Given the description of an element on the screen output the (x, y) to click on. 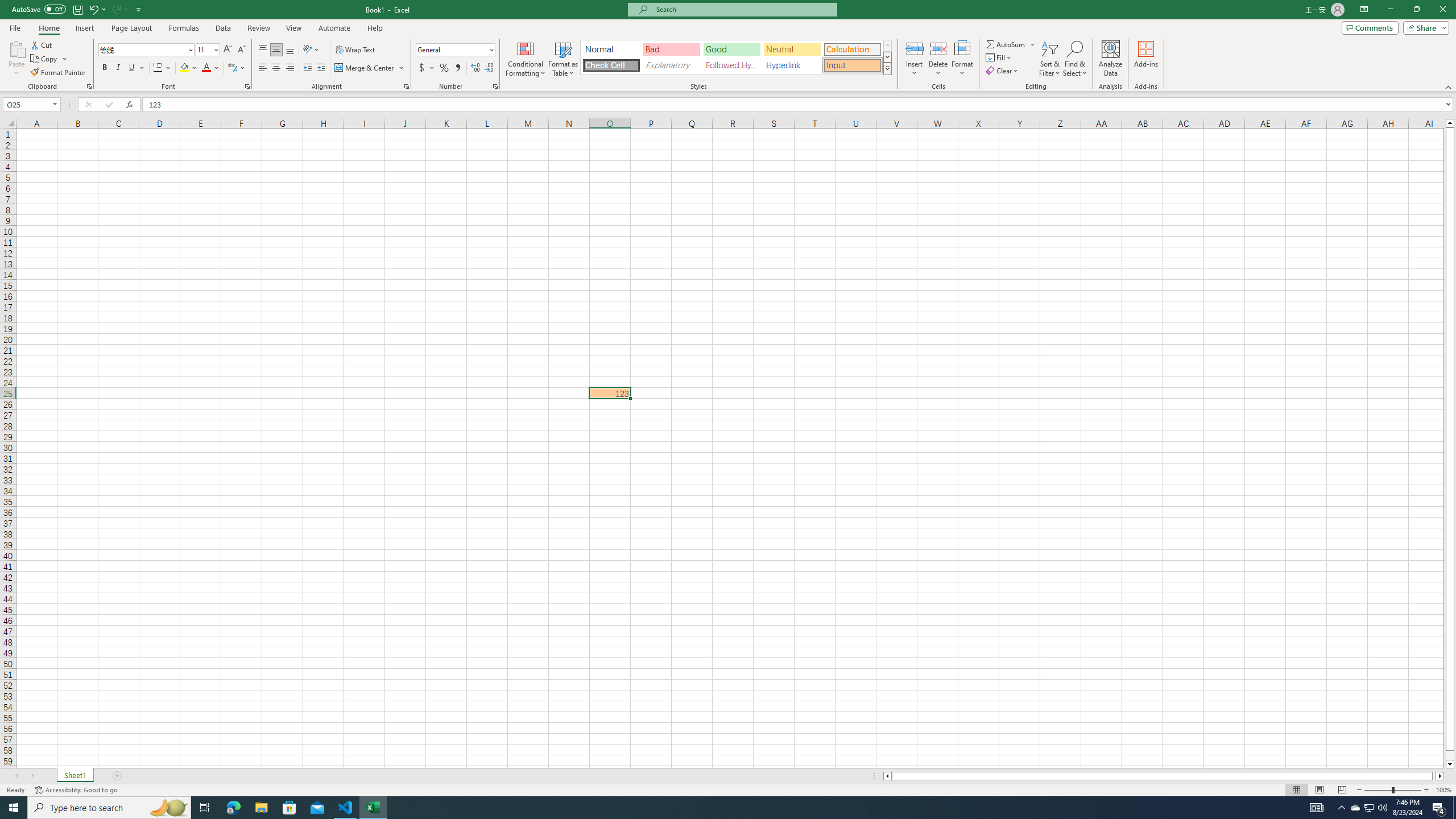
Decrease Decimal (489, 67)
Decrease Font Size (240, 49)
Bottom Align (290, 49)
Number Format (455, 49)
AutoSum (1011, 44)
Underline (136, 67)
Format Cell Alignment (405, 85)
Font Color RGB(255, 0, 0) (206, 67)
Increase Decimal (474, 67)
Copy (49, 58)
Increase Font Size (227, 49)
